Given the description of an element on the screen output the (x, y) to click on. 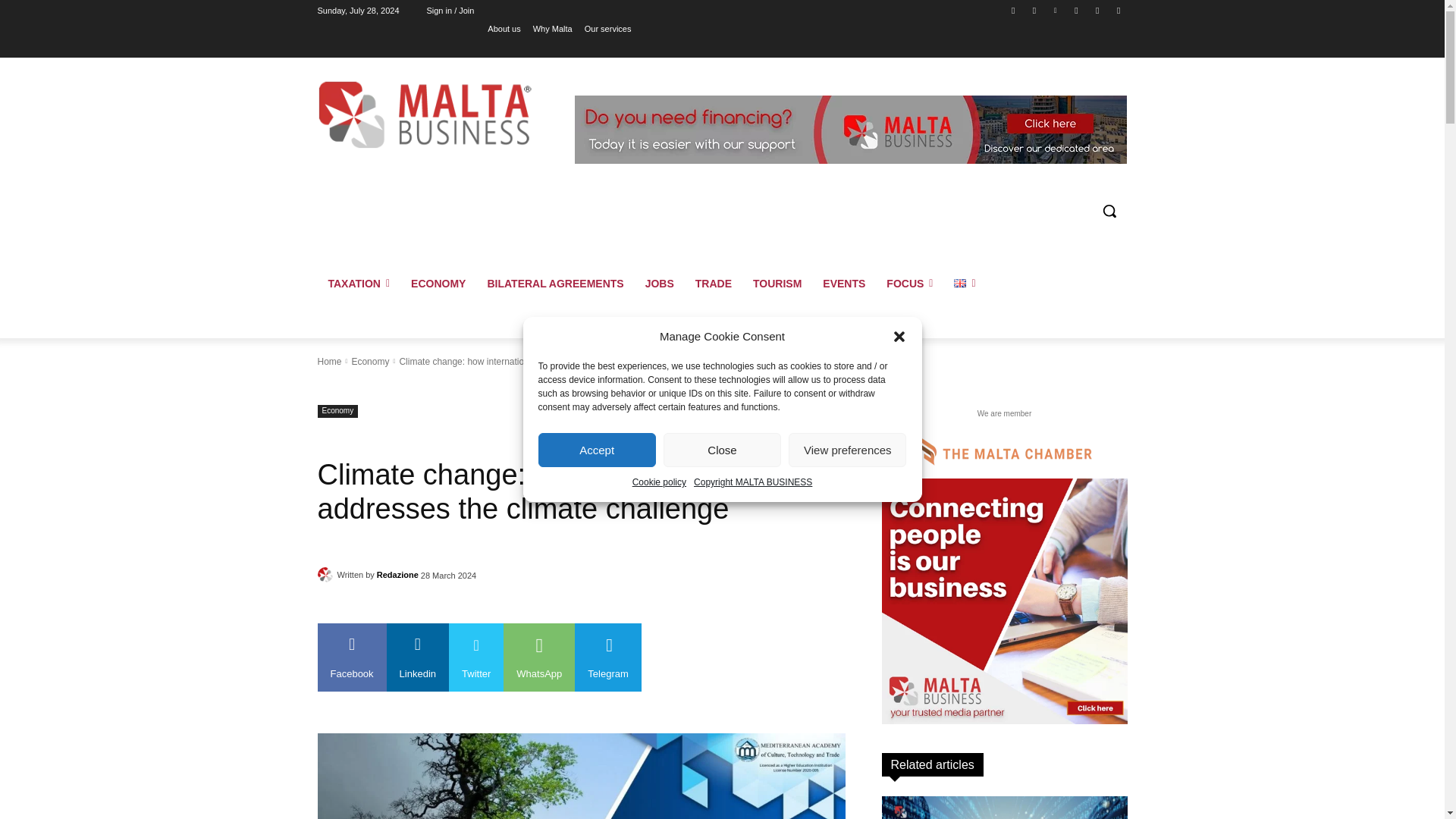
Linkedin (1055, 9)
View preferences (847, 449)
Youtube (1117, 9)
Telegram (1075, 9)
Twitter (1097, 9)
Instagram (1034, 9)
Cookie policy (658, 482)
Close (721, 449)
Facebook (1013, 9)
Copyright MALTA BUSINESS (753, 482)
Malta Business (425, 113)
Accept (597, 449)
